Given the description of an element on the screen output the (x, y) to click on. 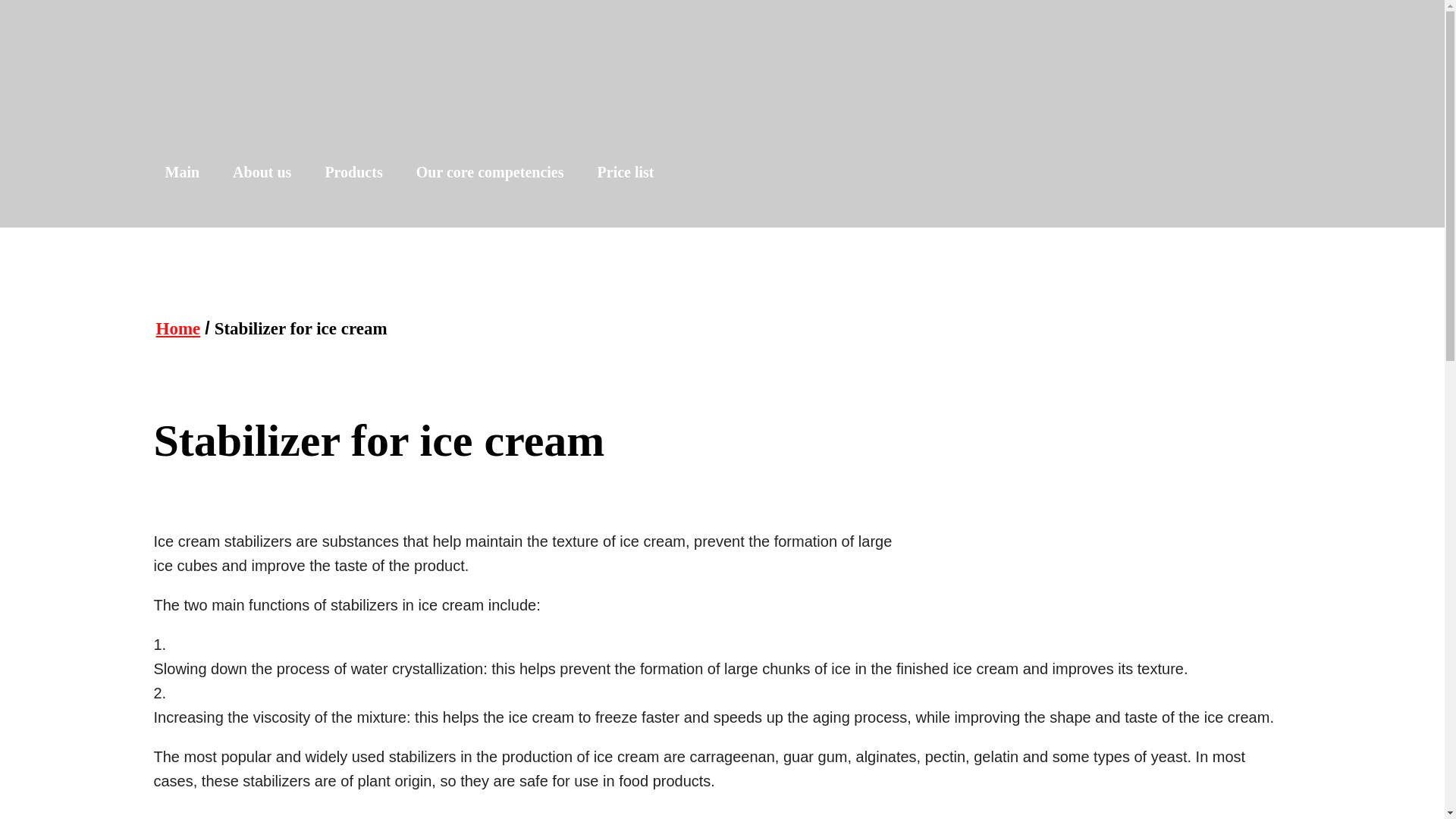
Our core competencies (489, 172)
Main (181, 172)
Home (177, 328)
Price list (625, 172)
Products (353, 172)
About us (261, 172)
